Given the description of an element on the screen output the (x, y) to click on. 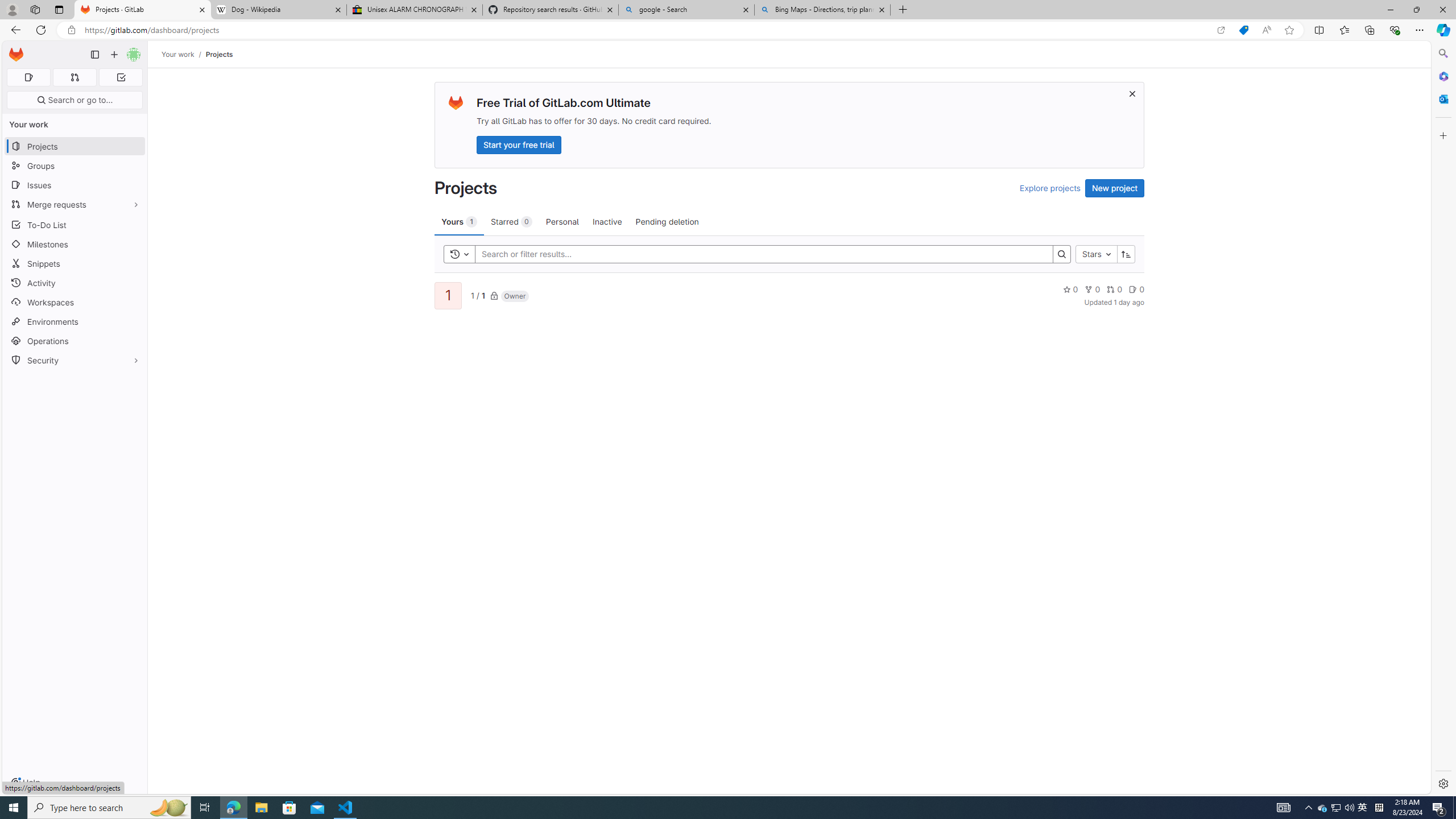
Merge requests 0 (74, 76)
Dog - Wikipedia (277, 9)
Security (74, 359)
Projects (218, 53)
Milestones (74, 244)
Class: s16 gl-icon gl-button-icon  (1132, 93)
Groups (74, 165)
Assigned issues 0 (28, 76)
Skip to main content (13, 49)
Dismiss trial promotion (1131, 93)
